Given the description of an element on the screen output the (x, y) to click on. 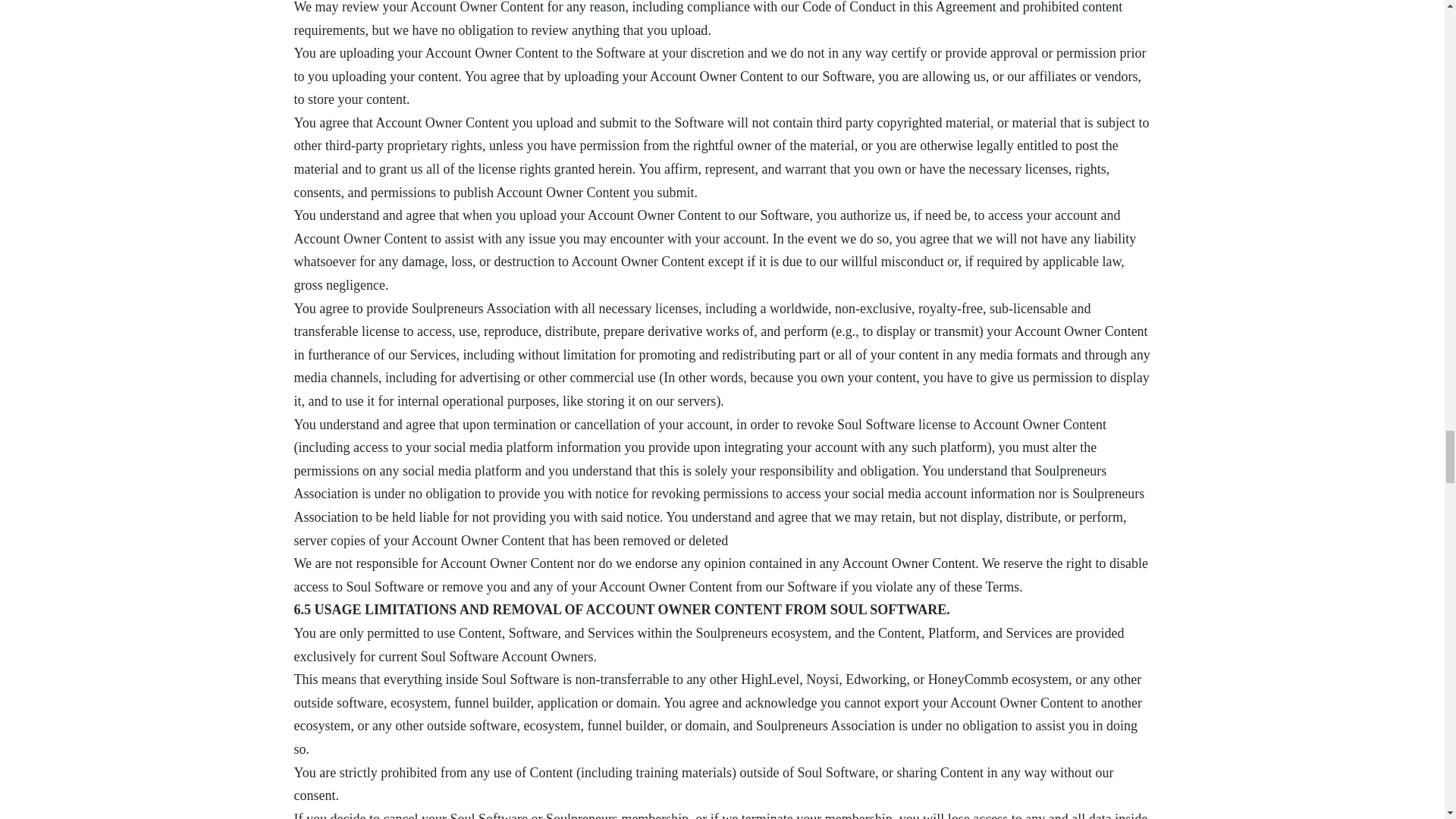
You (304, 52)
You (304, 215)
herein. You (629, 168)
notice. You (657, 516)
